Given the description of an element on the screen output the (x, y) to click on. 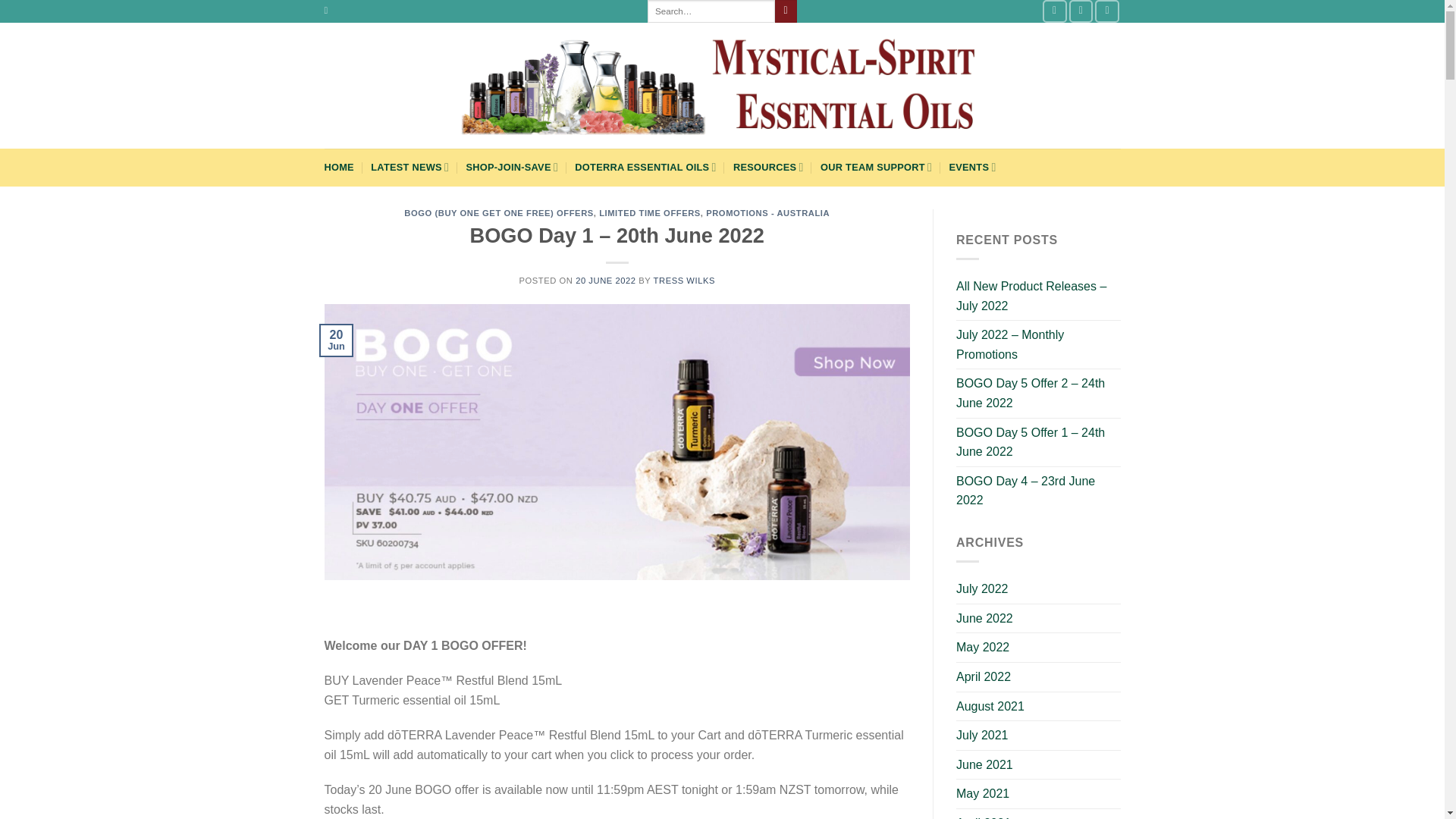
SHOP-JOIN-SAVE (511, 167)
LATEST NEWS (409, 167)
Follow on Facebook (1054, 11)
Send us an email (1106, 11)
Follow on Instagram (1080, 11)
DOTERRA ESSENTIAL OILS (645, 167)
